Given the description of an element on the screen output the (x, y) to click on. 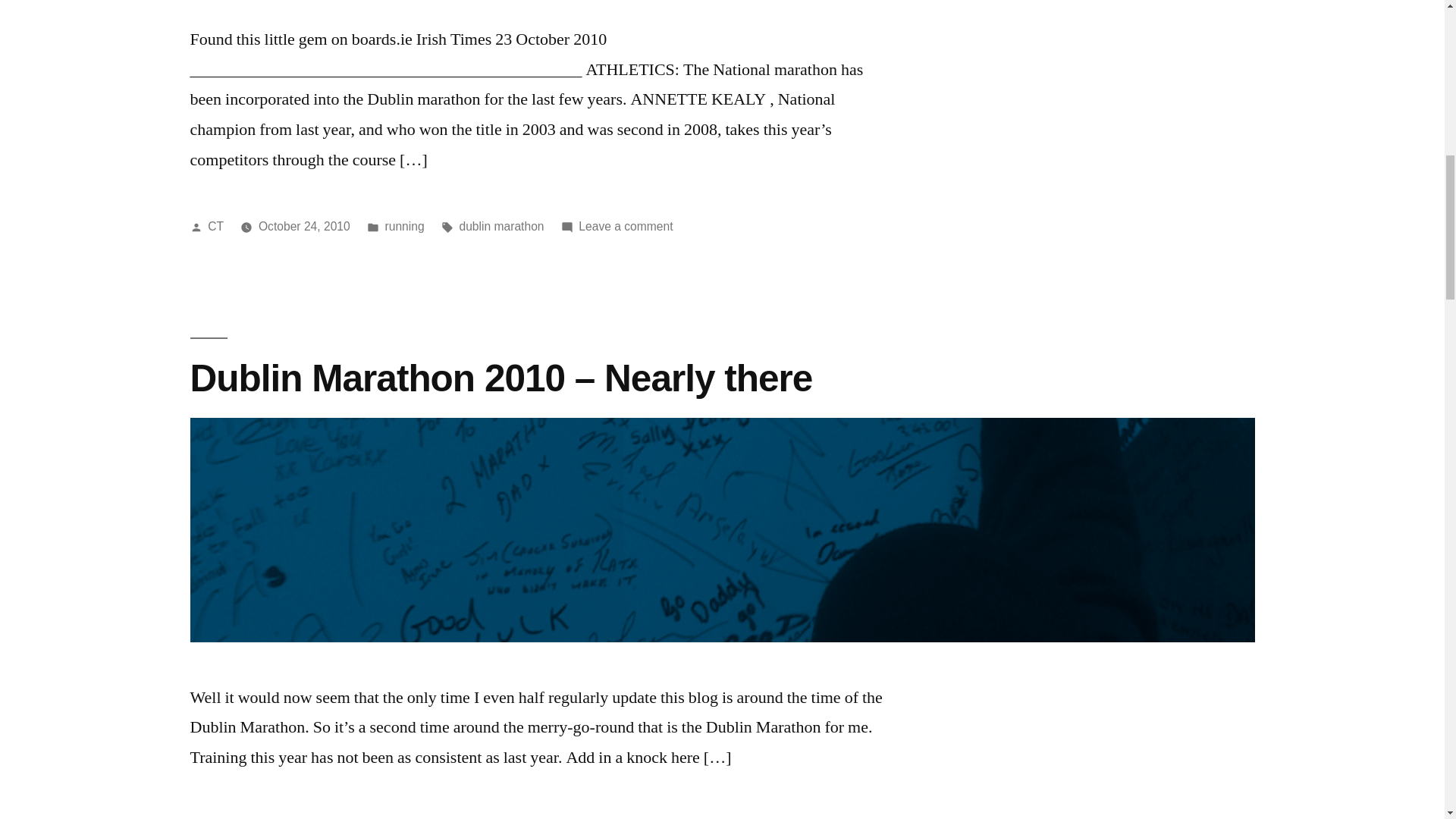
running (405, 818)
dublin marathon (500, 226)
running (405, 226)
dublin marathon (500, 818)
October 24, 2010 (304, 818)
CT (216, 226)
October 24, 2010 (625, 226)
